Given the description of an element on the screen output the (x, y) to click on. 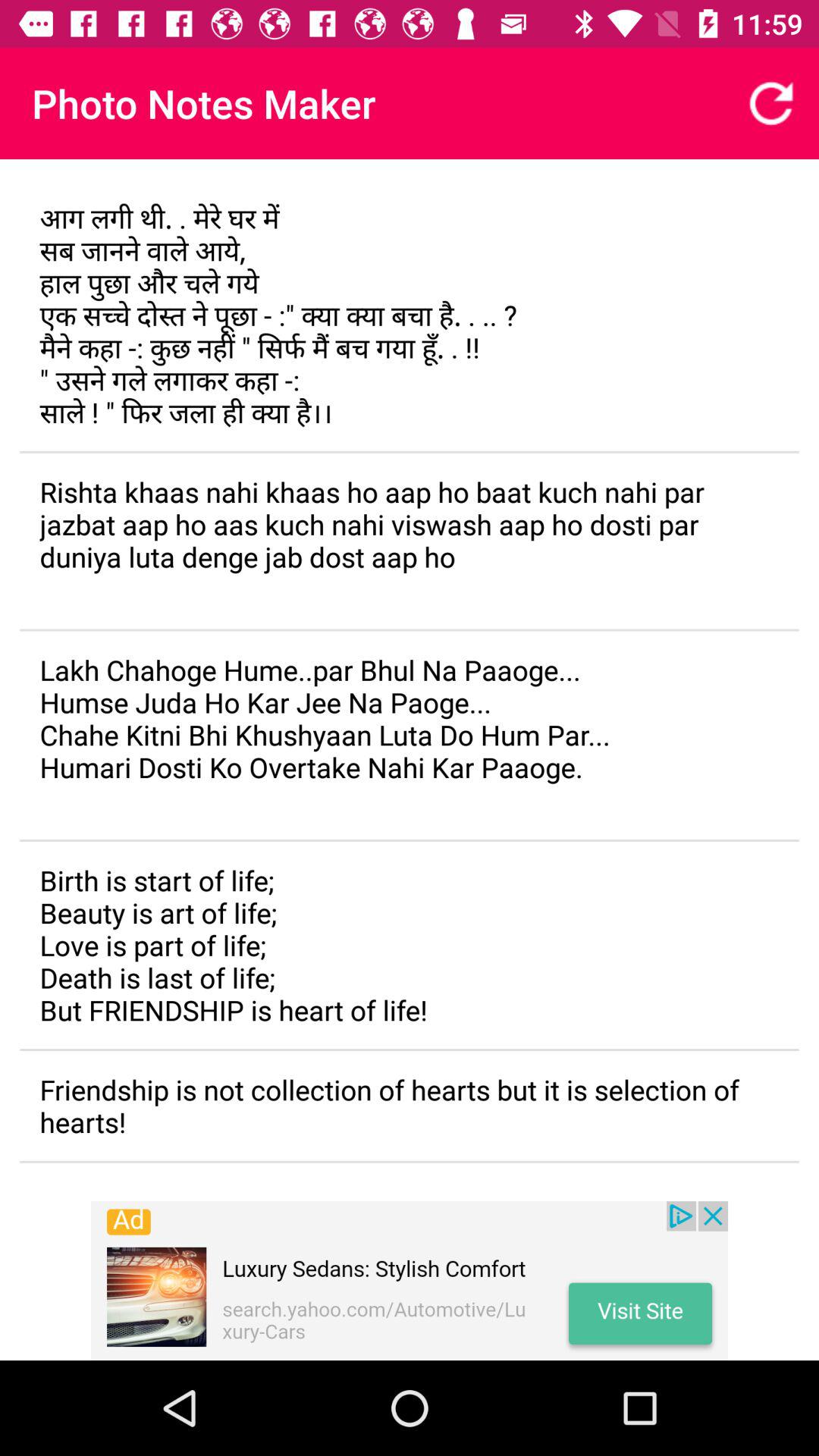
see adds (409, 1280)
